Given the description of an element on the screen output the (x, y) to click on. 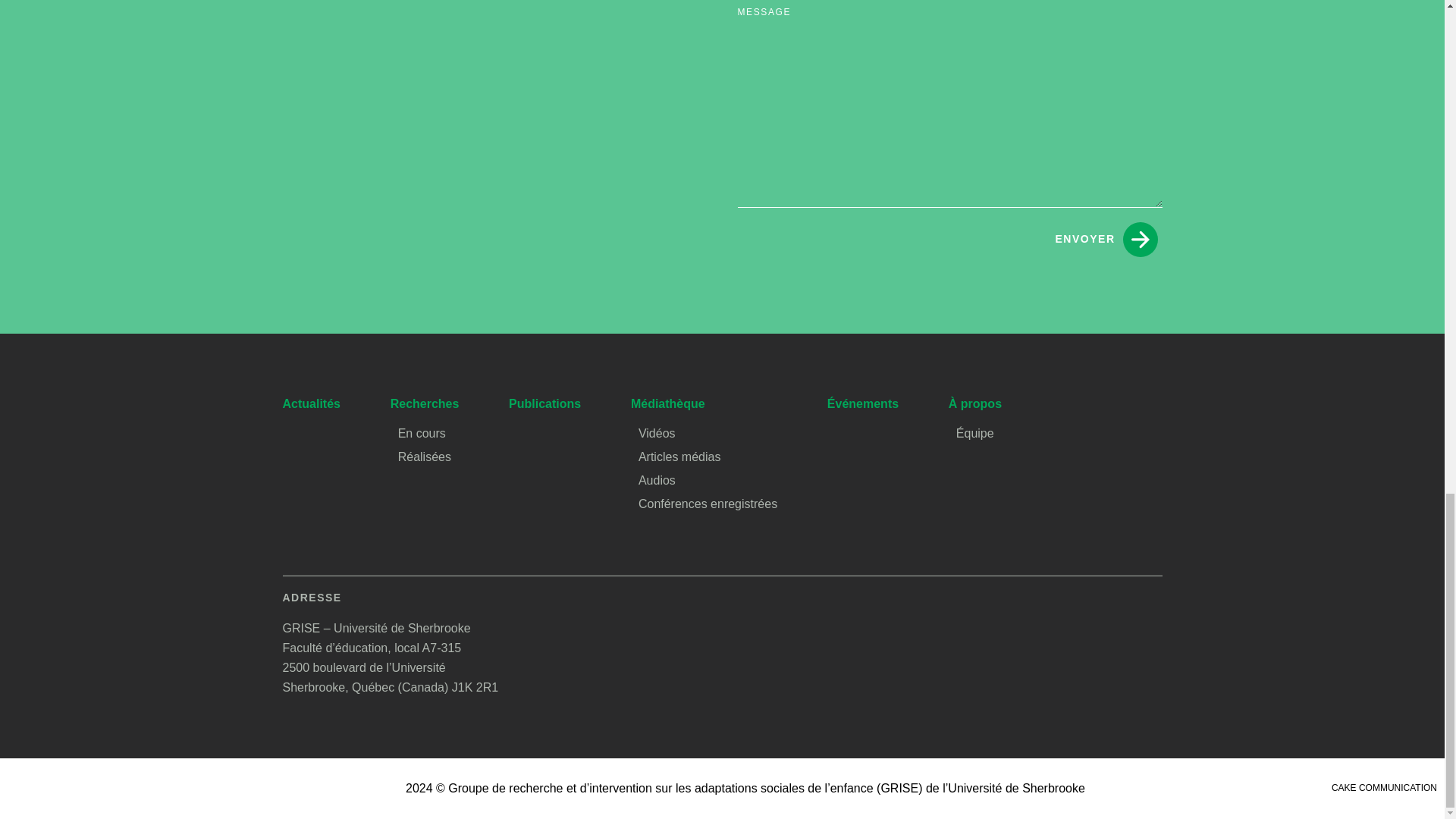
Publications (544, 403)
En cours (421, 432)
Recherches (425, 403)
ENVOYER (1106, 239)
Audios (657, 480)
